Given the description of an element on the screen output the (x, y) to click on. 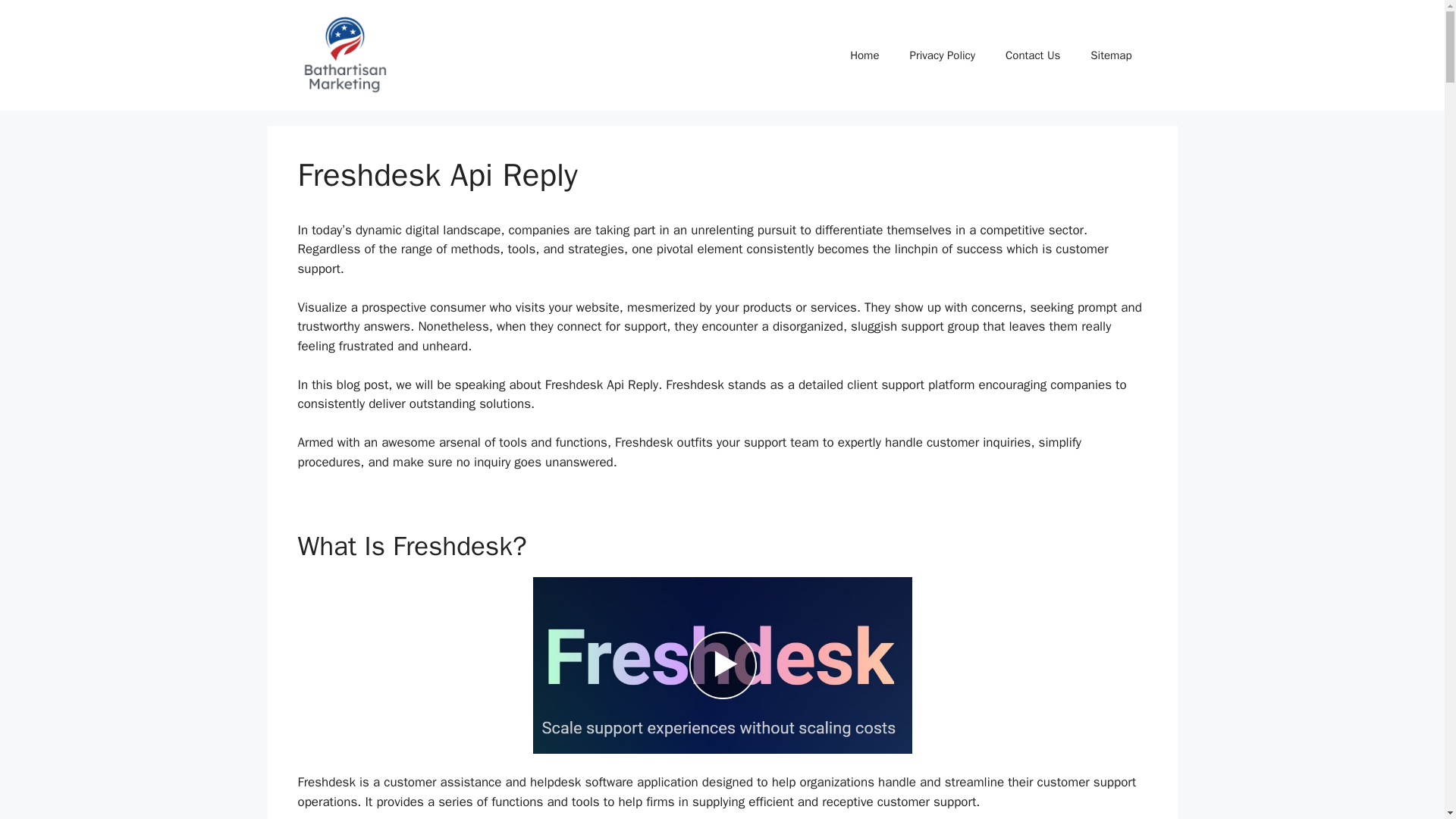
Sitemap (1111, 54)
Privacy Policy (941, 54)
Home (863, 54)
Contact Us (1032, 54)
